Given the description of an element on the screen output the (x, y) to click on. 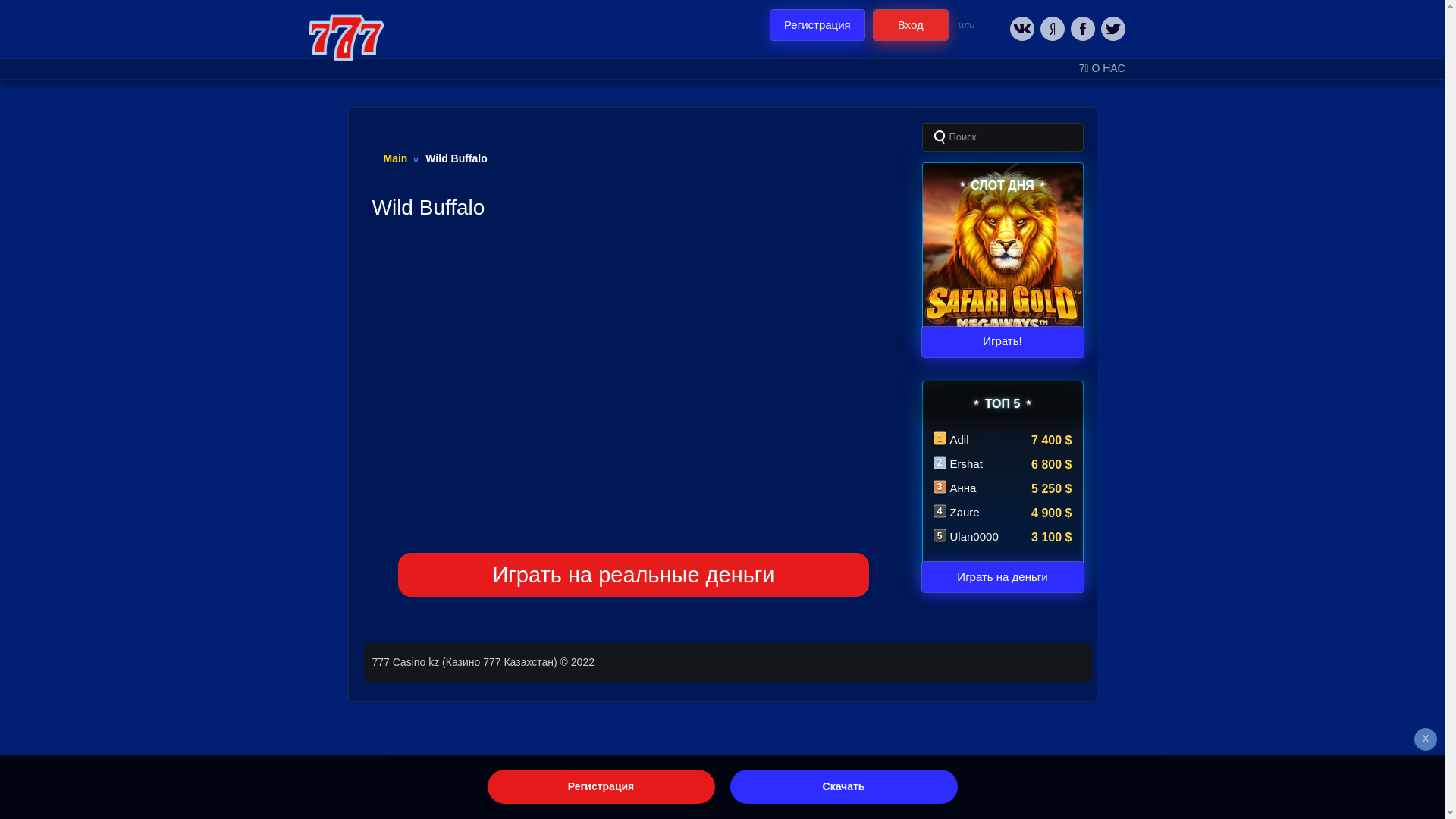
casino Element type: hover (345, 37)
Main Element type: text (395, 158)
